Given the description of an element on the screen output the (x, y) to click on. 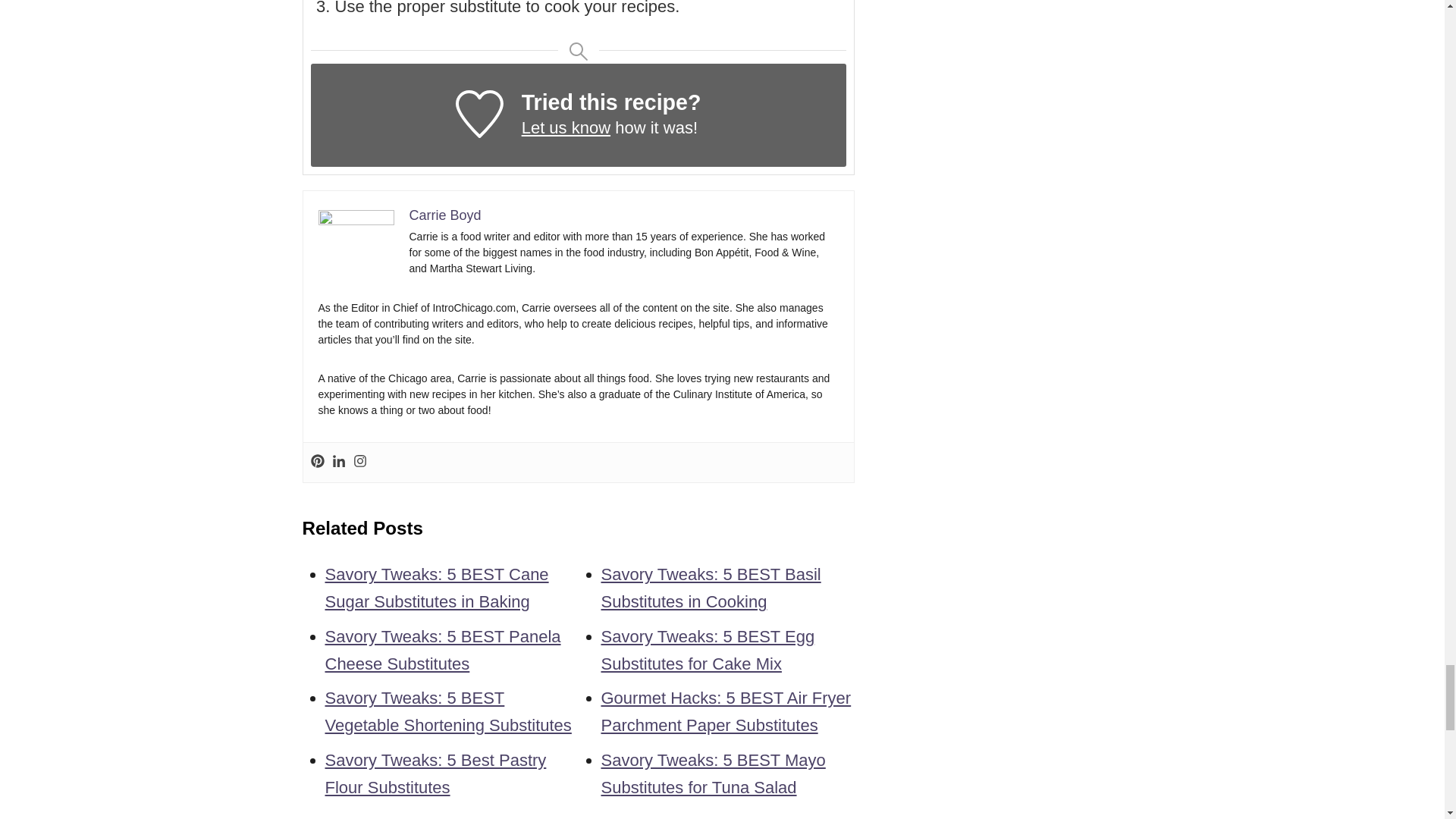
Savory Tweaks: 5 BEST Vegetable Shortening Substitutes (447, 711)
Savory Tweaks: 5 BEST Cane Sugar Substitutes in Baking (436, 587)
Let us know (565, 127)
Savory Tweaks: 5 BEST Egg Substitutes for Cake Mix (706, 650)
Gourmet Hacks: 5 BEST Air Fryer Parchment Paper Substitutes (724, 711)
Savory Tweaks: 5 Best Pastry Flour Substitutes (435, 773)
Savory Tweaks: 5 BEST Mayo Substitutes for Tuna Salad (712, 773)
Savory Tweaks: 5 BEST Panela Cheese Substitutes (442, 650)
Savory Tweaks: 5 BEST Basil Substitutes in Cooking (710, 587)
Carrie Boyd (445, 215)
